Given the description of an element on the screen output the (x, y) to click on. 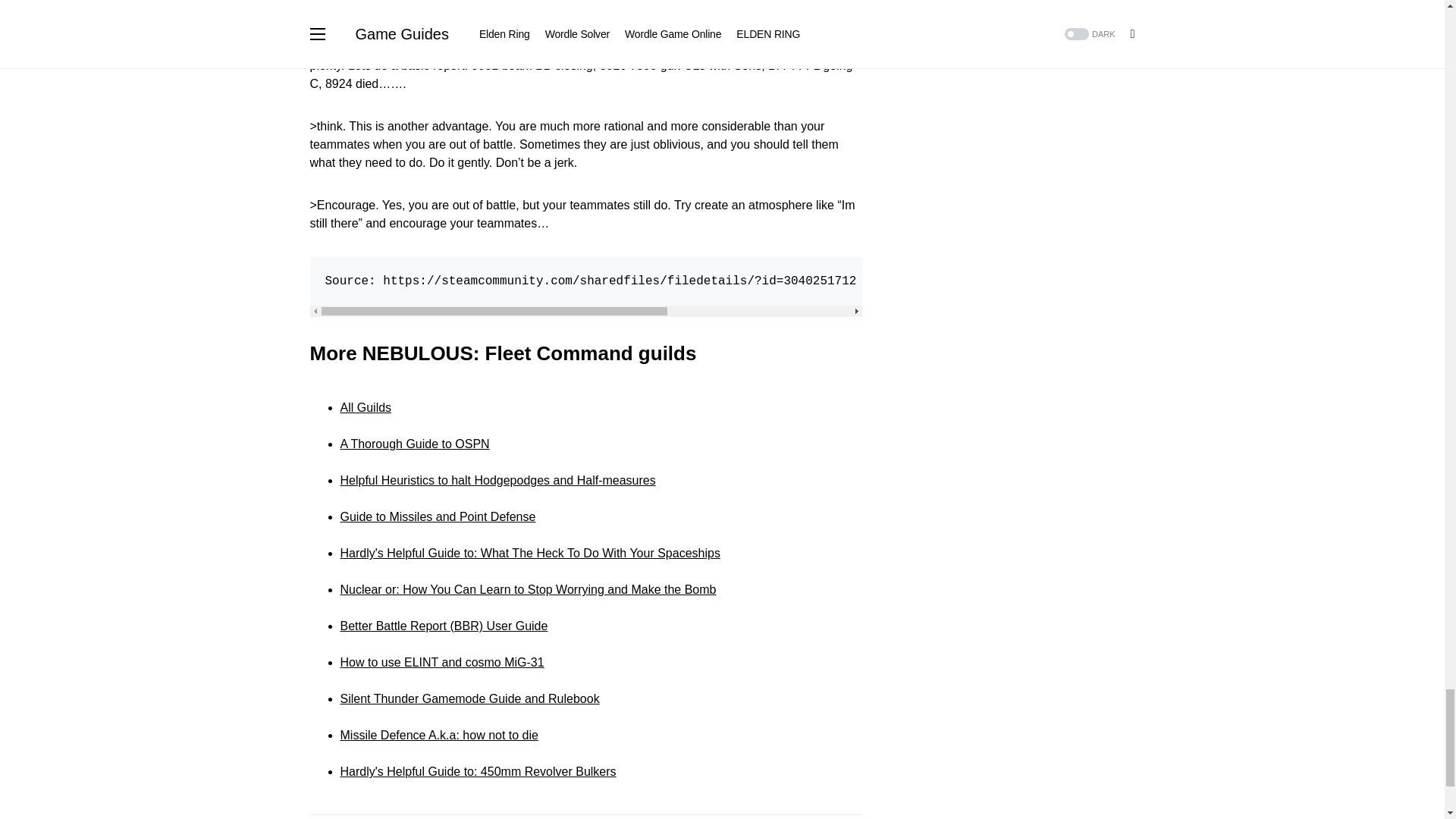
A Thorough Guide to OSPN (414, 443)
Helpful Heuristics to halt Hodgepodges and Half-measures (497, 480)
All guilds NEBULOUS: Fleet Command (365, 407)
Guide to Missiles and Point Defense (437, 516)
